Given the description of an element on the screen output the (x, y) to click on. 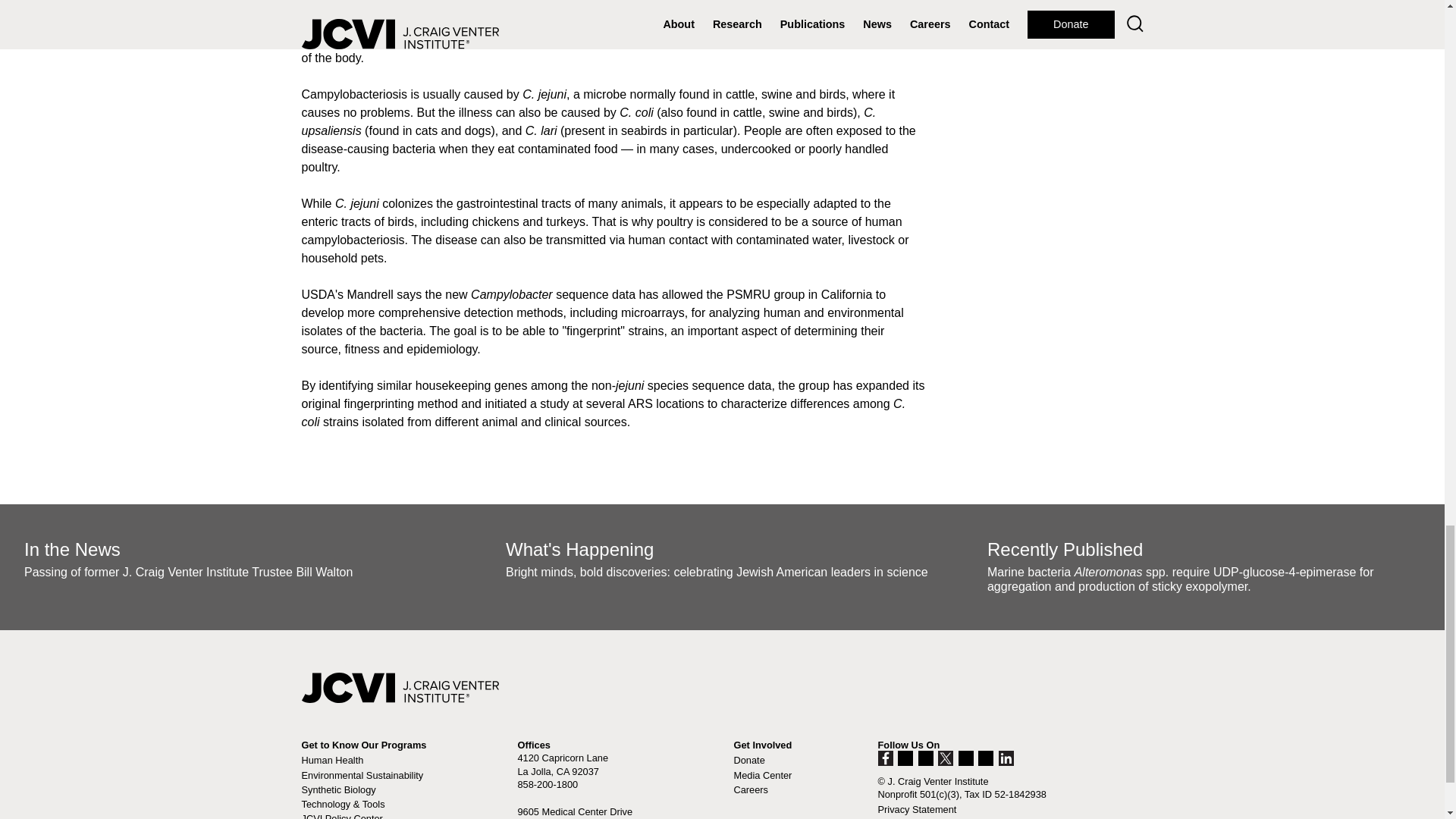
JCVI Policy Center (341, 816)
Environmental Sustainability (362, 775)
Human Health (332, 759)
Synthetic Biology (338, 789)
